Given the description of an element on the screen output the (x, y) to click on. 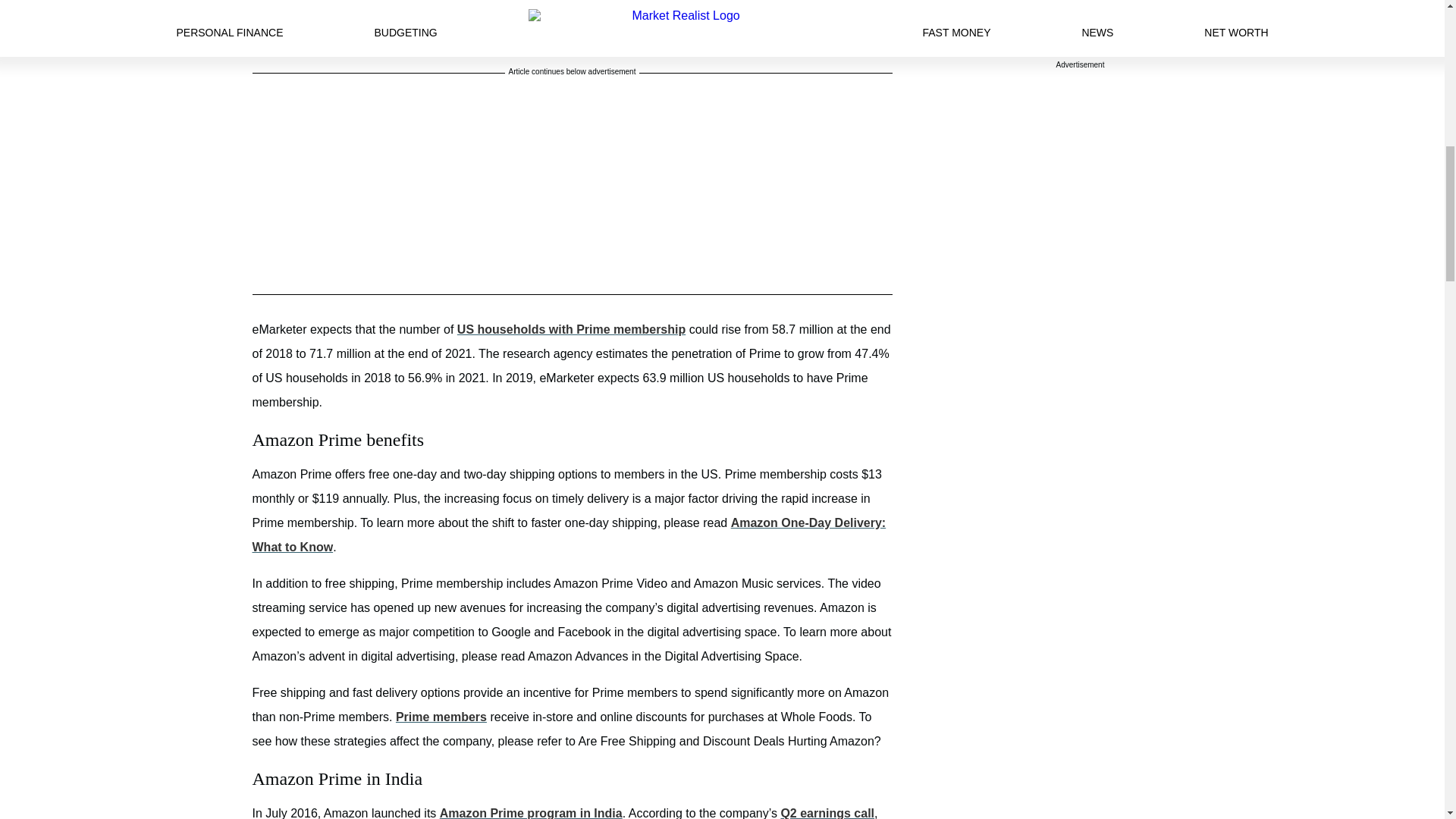
Amazon One-Day Delivery: What to Know (568, 534)
Q2 earnings call (827, 812)
Amazon Prime program in India (531, 812)
US households with Prime membership (571, 328)
Prime members (441, 716)
